Given the description of an element on the screen output the (x, y) to click on. 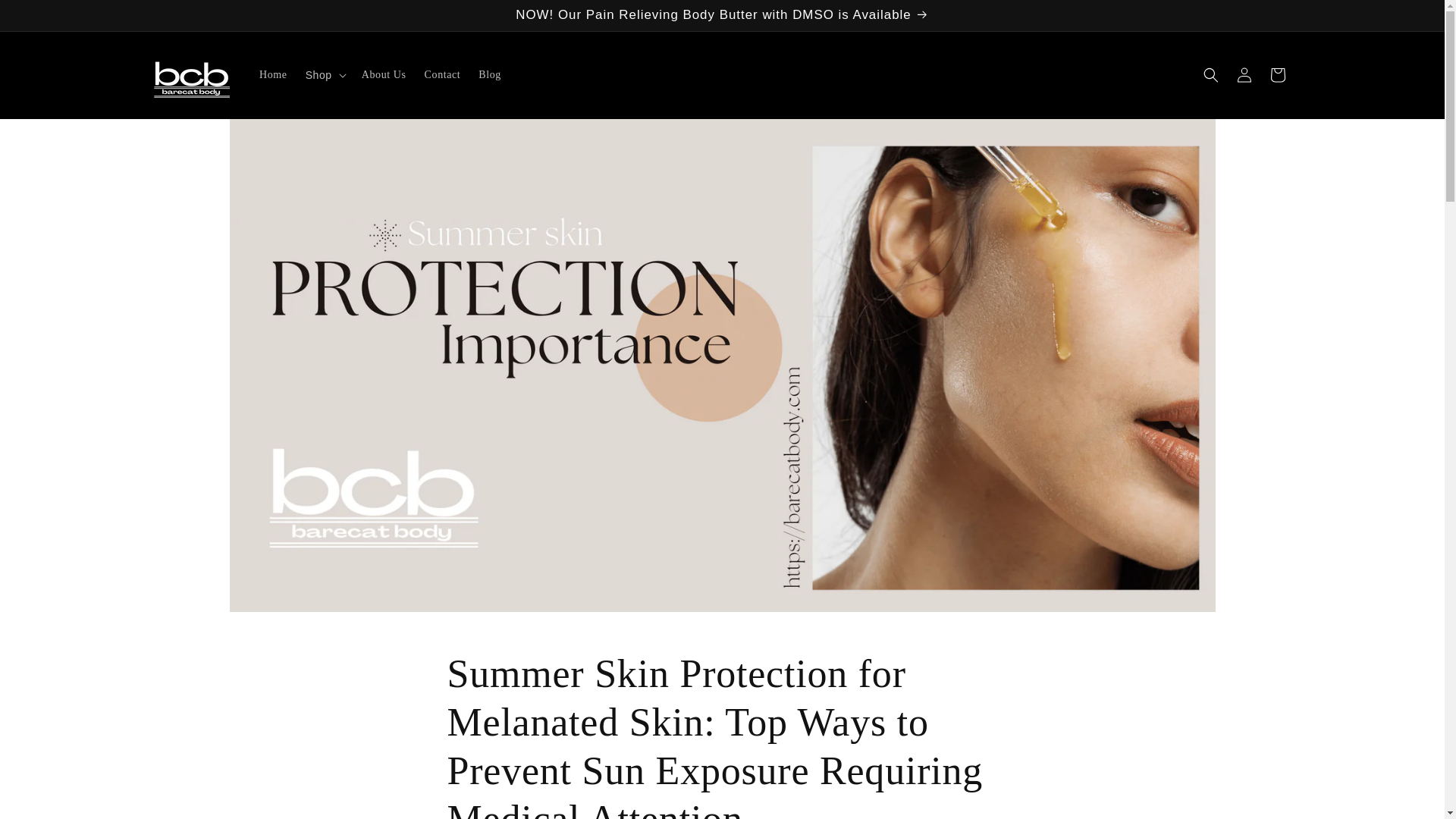
About Us (383, 74)
NOW! Our Pain Relieving Body Butter with DMSO is Available (721, 15)
Ir directamente al contenido (45, 17)
Home (273, 74)
Contact (442, 74)
Blog (489, 74)
